Given the description of an element on the screen output the (x, y) to click on. 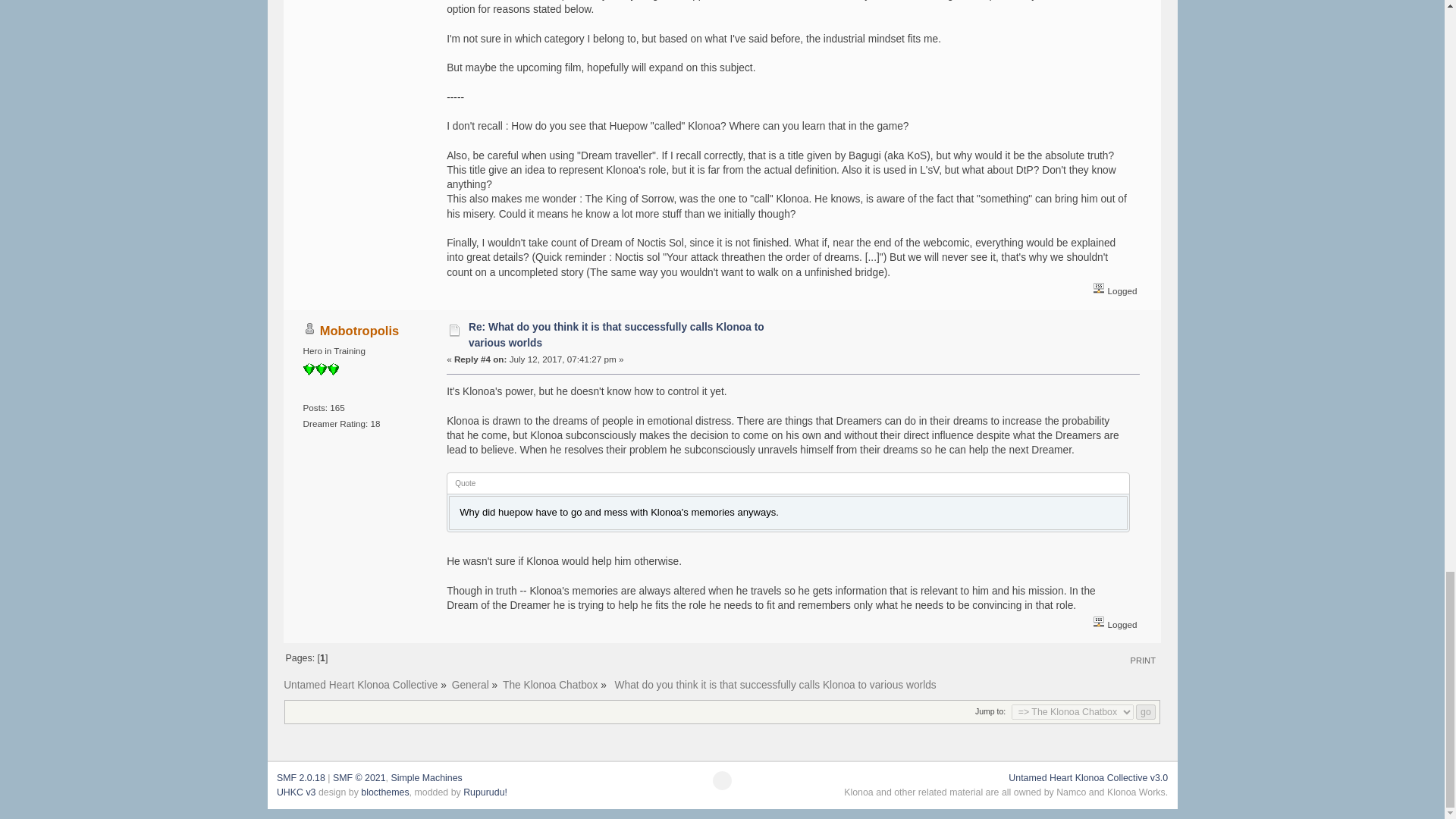
go (1145, 711)
Simple Machines Forum (300, 777)
View the profile of Mobotropolis (359, 330)
License (359, 777)
Simple Machines (425, 777)
